Given the description of an element on the screen output the (x, y) to click on. 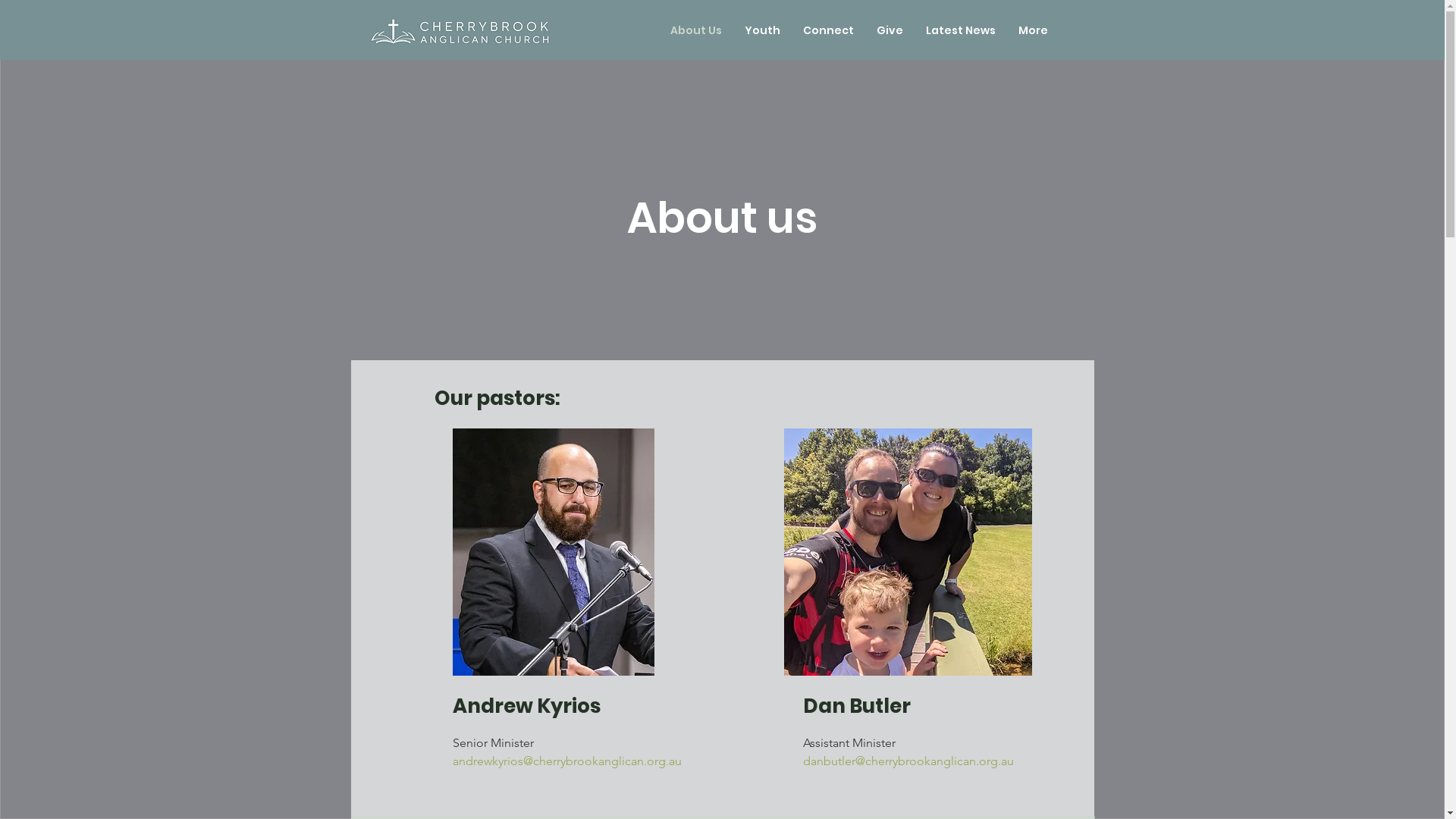
danbutler@cherrybrookanglican.org.au Element type: text (907, 760)
Give Element type: text (888, 30)
CAC-34.JPG Element type: hover (552, 551)
Youth Element type: text (761, 30)
About Us Element type: text (695, 30)
andrewkyrios@cherrybrookanglican.org.au Element type: text (565, 760)
Latest News Element type: text (960, 30)
Connect Element type: text (828, 30)
